Given the description of an element on the screen output the (x, y) to click on. 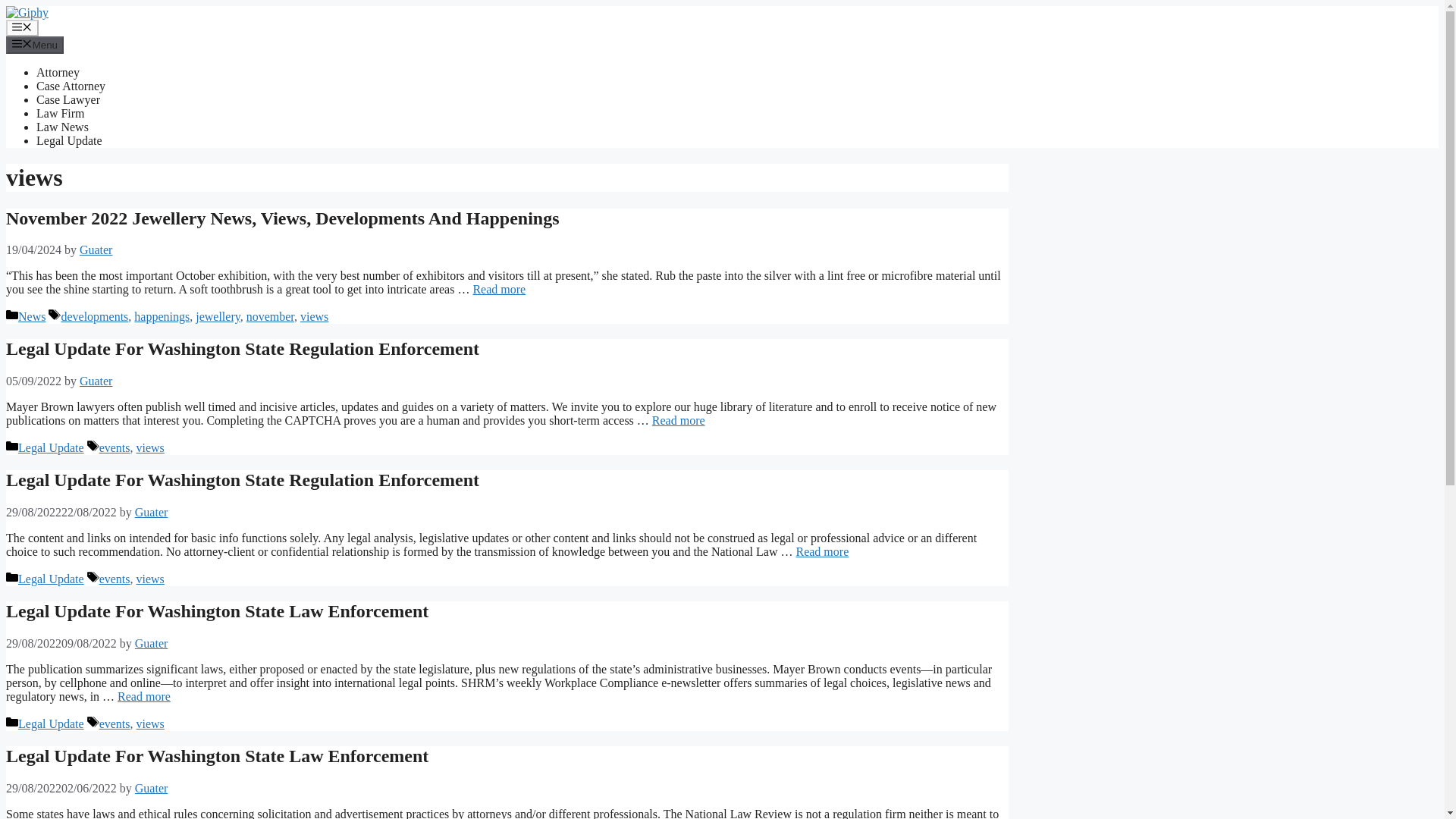
Law Firm (60, 113)
News (31, 316)
Case Attorney (70, 85)
Menu (22, 27)
views (150, 578)
Legal Update For Washington State Law Enforcement (216, 610)
views (314, 316)
Legal Update (50, 447)
Read more (678, 420)
jewellery (217, 316)
Legal Update (68, 140)
Guater (151, 788)
Legal Update (50, 723)
Legal Update For Washington State Law Enforcement (216, 755)
